Given the description of an element on the screen output the (x, y) to click on. 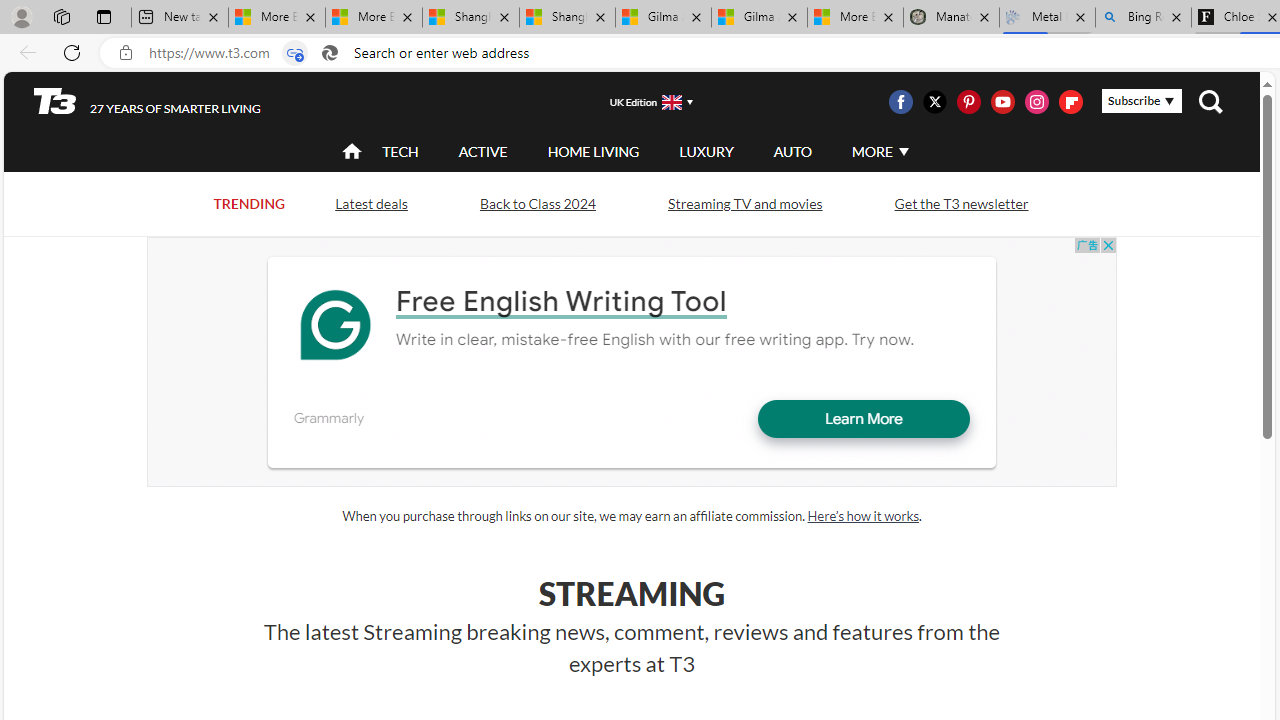
T3 27 YEARS OF SMARTER LIVING (147, 101)
Back to Class 2024 (537, 202)
Class: navigation__item (350, 151)
HOME LIVING (593, 151)
Visit us on Instagram (1037, 101)
Visit us on Flipboard (1070, 101)
